Given the description of an element on the screen output the (x, y) to click on. 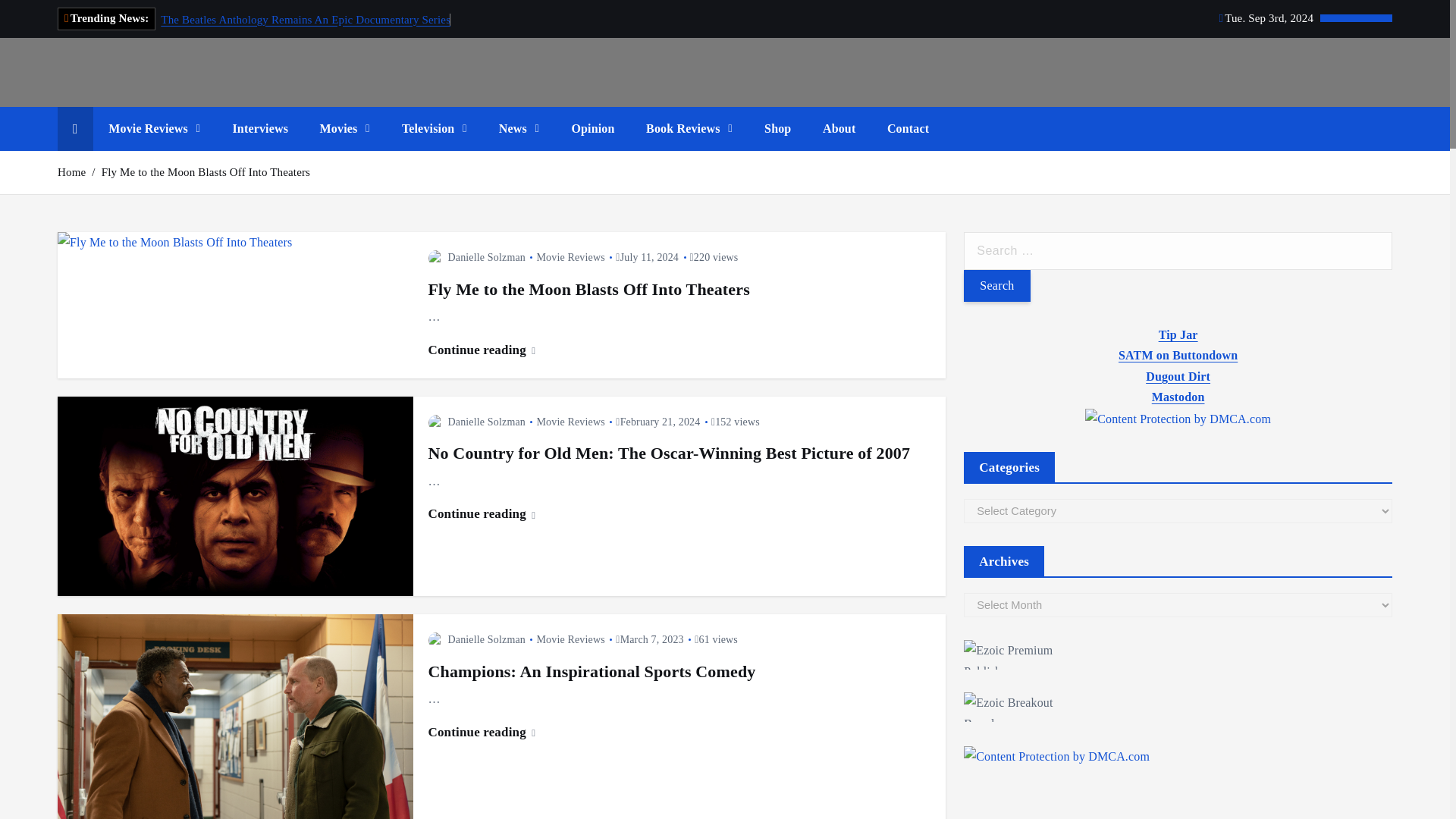
Search (996, 286)
Search (996, 286)
The Beatles Anthology Remains An Epic Documentary Series (304, 19)
Movie Reviews (154, 128)
Movies (344, 128)
Interviews (259, 128)
